Given the description of an element on the screen output the (x, y) to click on. 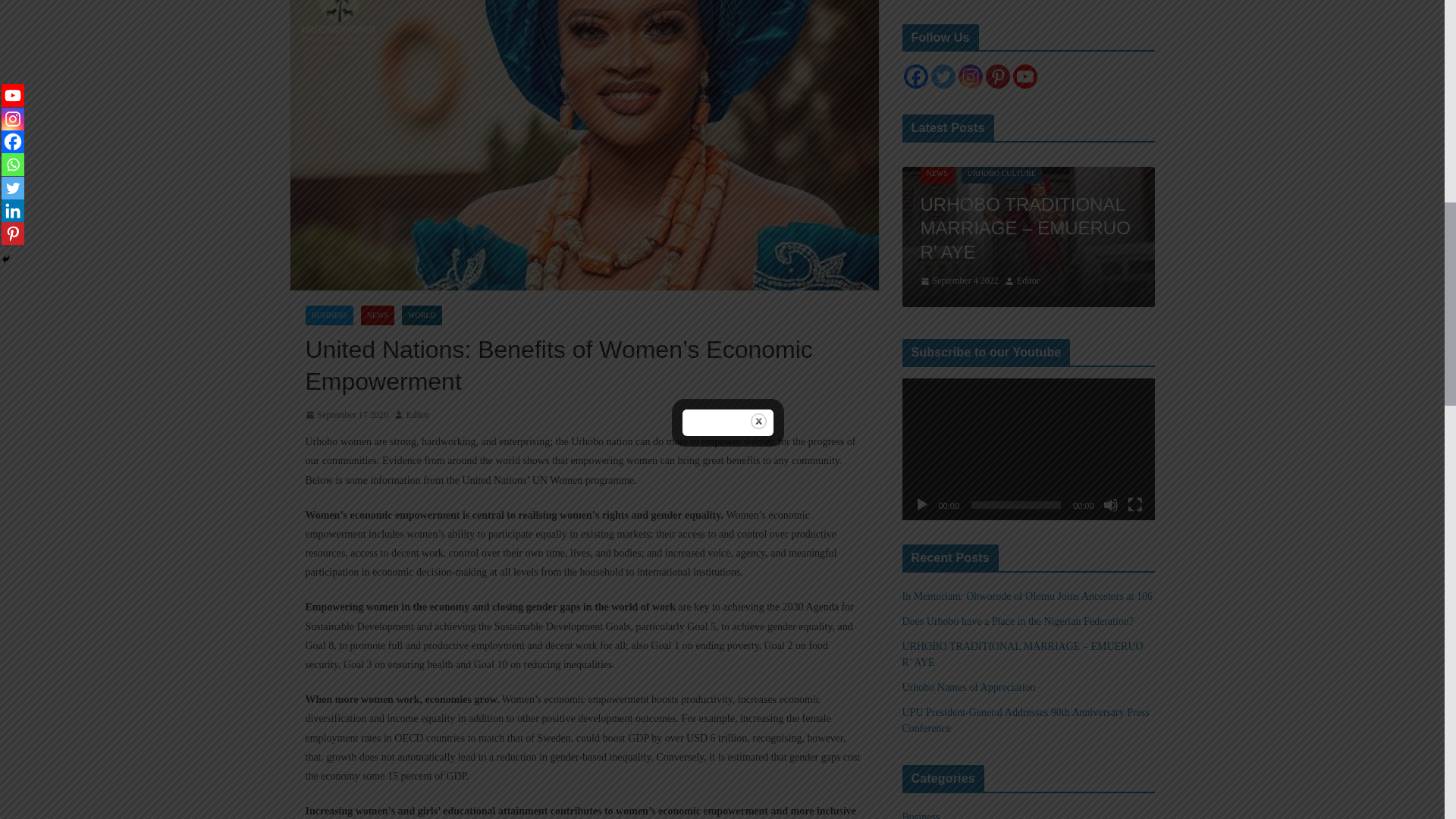
Editor (417, 415)
07:50 (345, 415)
NEWS (377, 315)
September 17 2020 (345, 415)
Editor (417, 415)
WORLD (421, 315)
BUSINESS (328, 315)
